Given the description of an element on the screen output the (x, y) to click on. 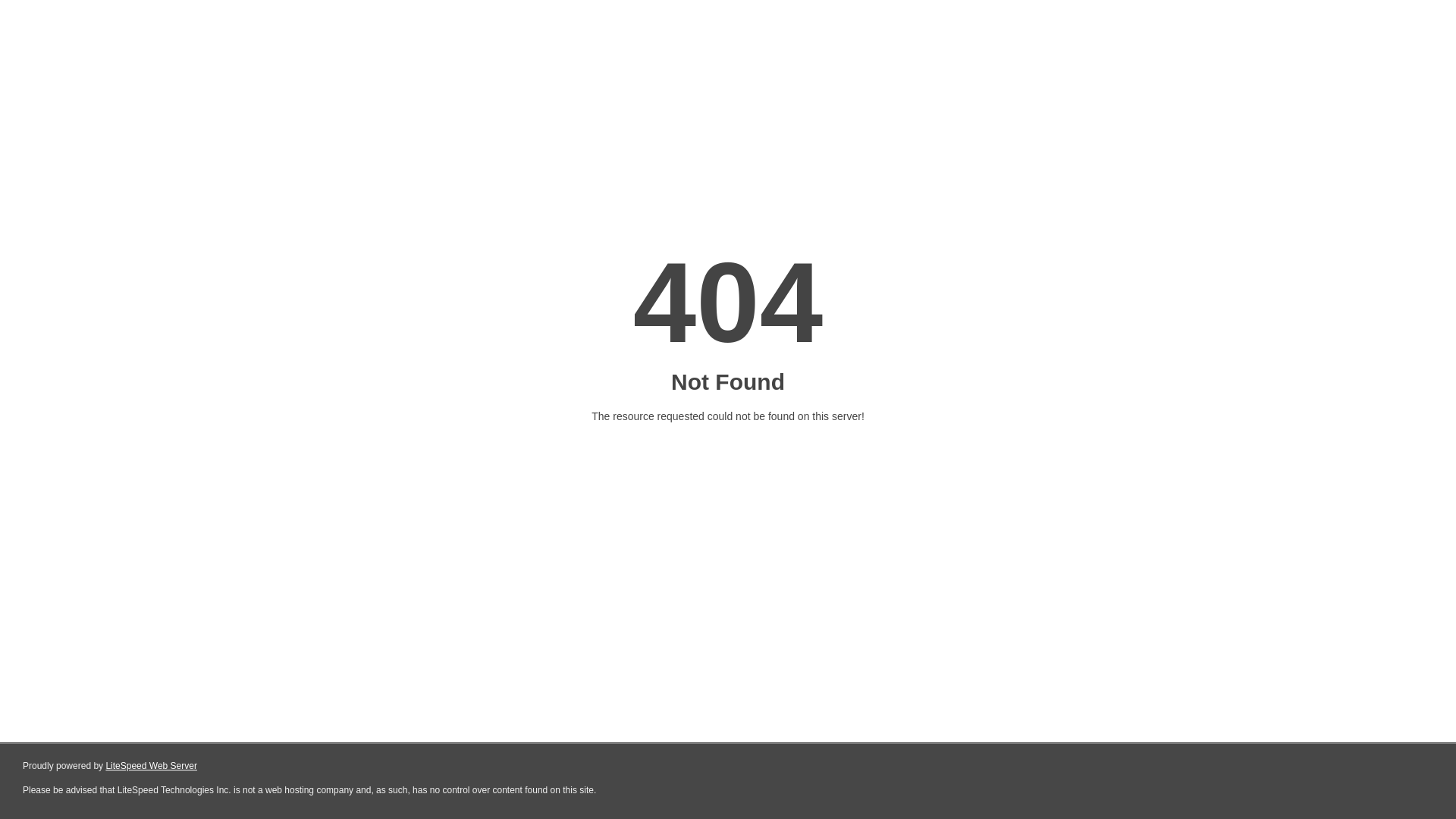
LiteSpeed Web Server Element type: text (151, 765)
